Given the description of an element on the screen output the (x, y) to click on. 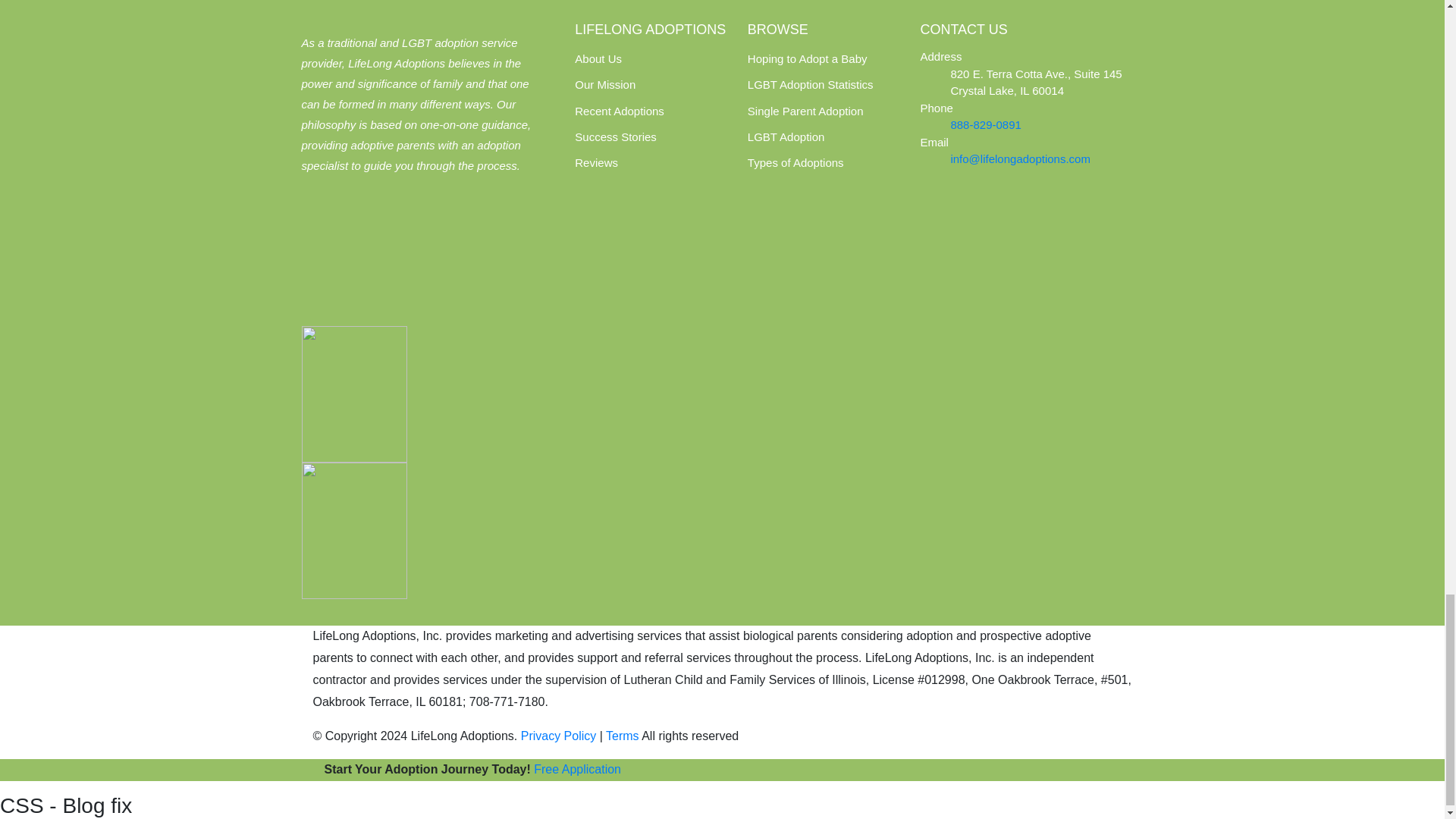
TikTok (470, 215)
Pinterest (396, 215)
Facebook (319, 215)
Instagram (434, 215)
Twitter (357, 215)
